Given the description of an element on the screen output the (x, y) to click on. 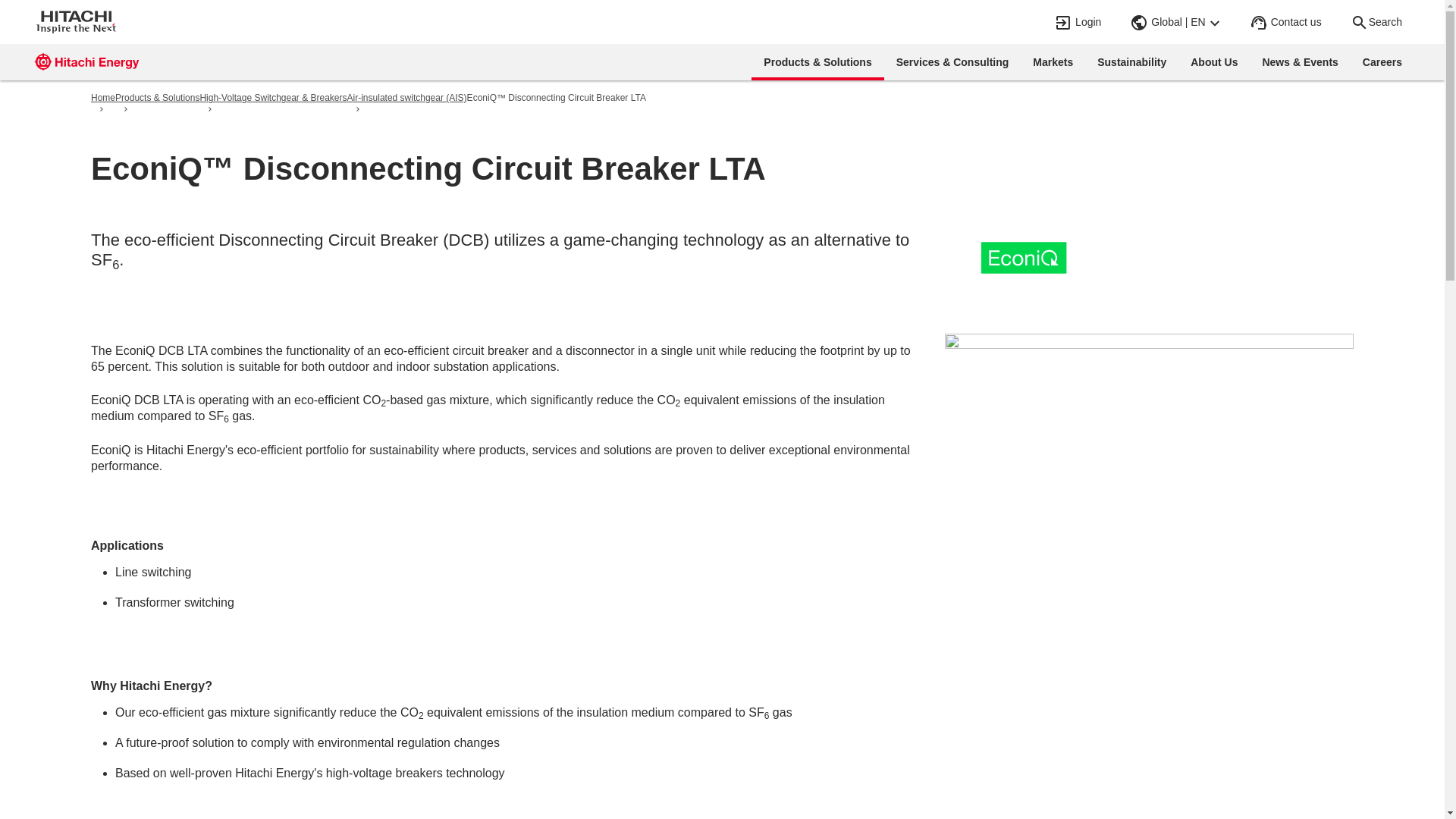
Contact us (1286, 21)
Login (1078, 21)
Markets (1052, 62)
Search (1375, 22)
